Given the description of an element on the screen output the (x, y) to click on. 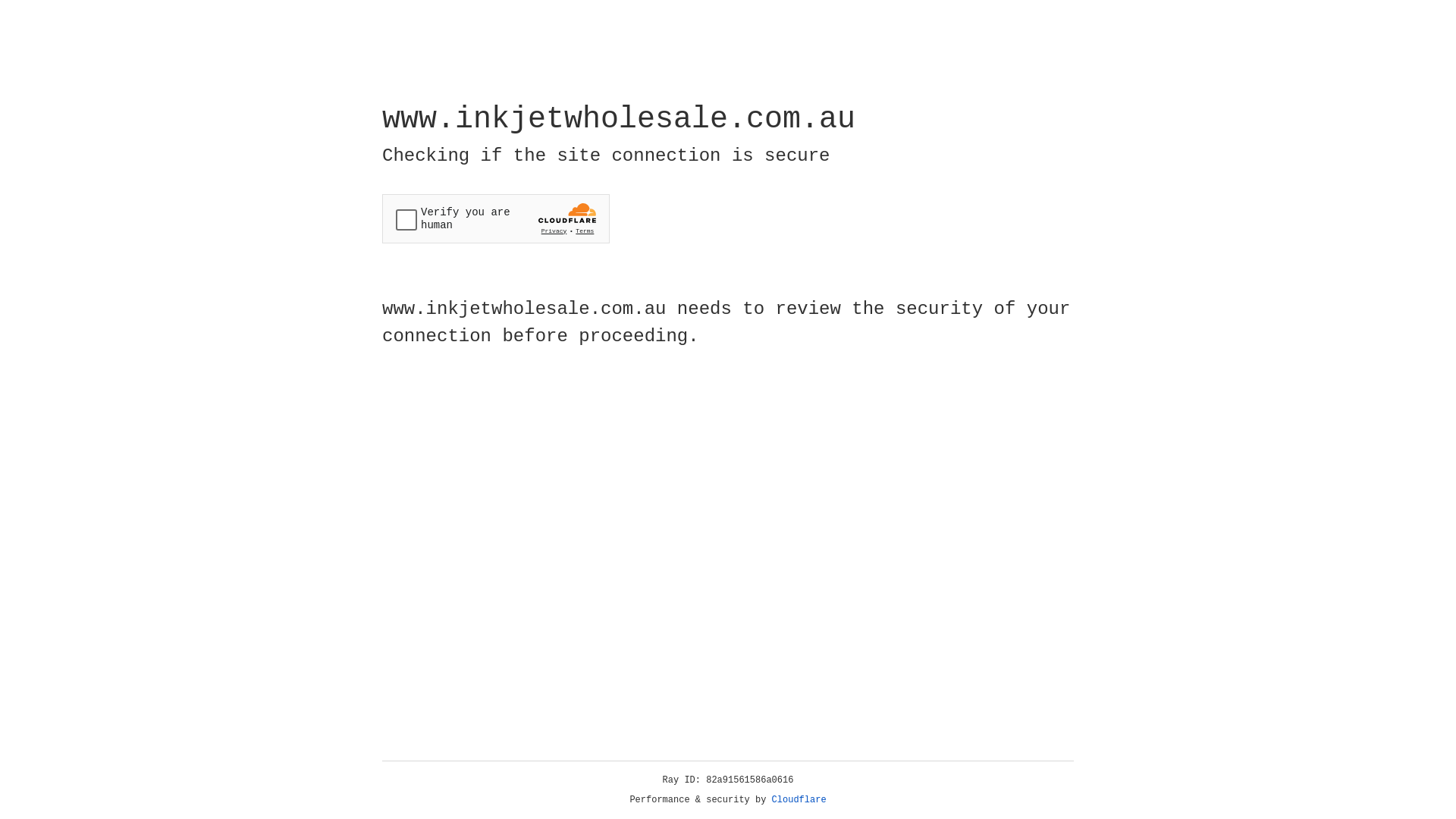
Cloudflare Element type: text (798, 799)
Widget containing a Cloudflare security challenge Element type: hover (495, 218)
